Given the description of an element on the screen output the (x, y) to click on. 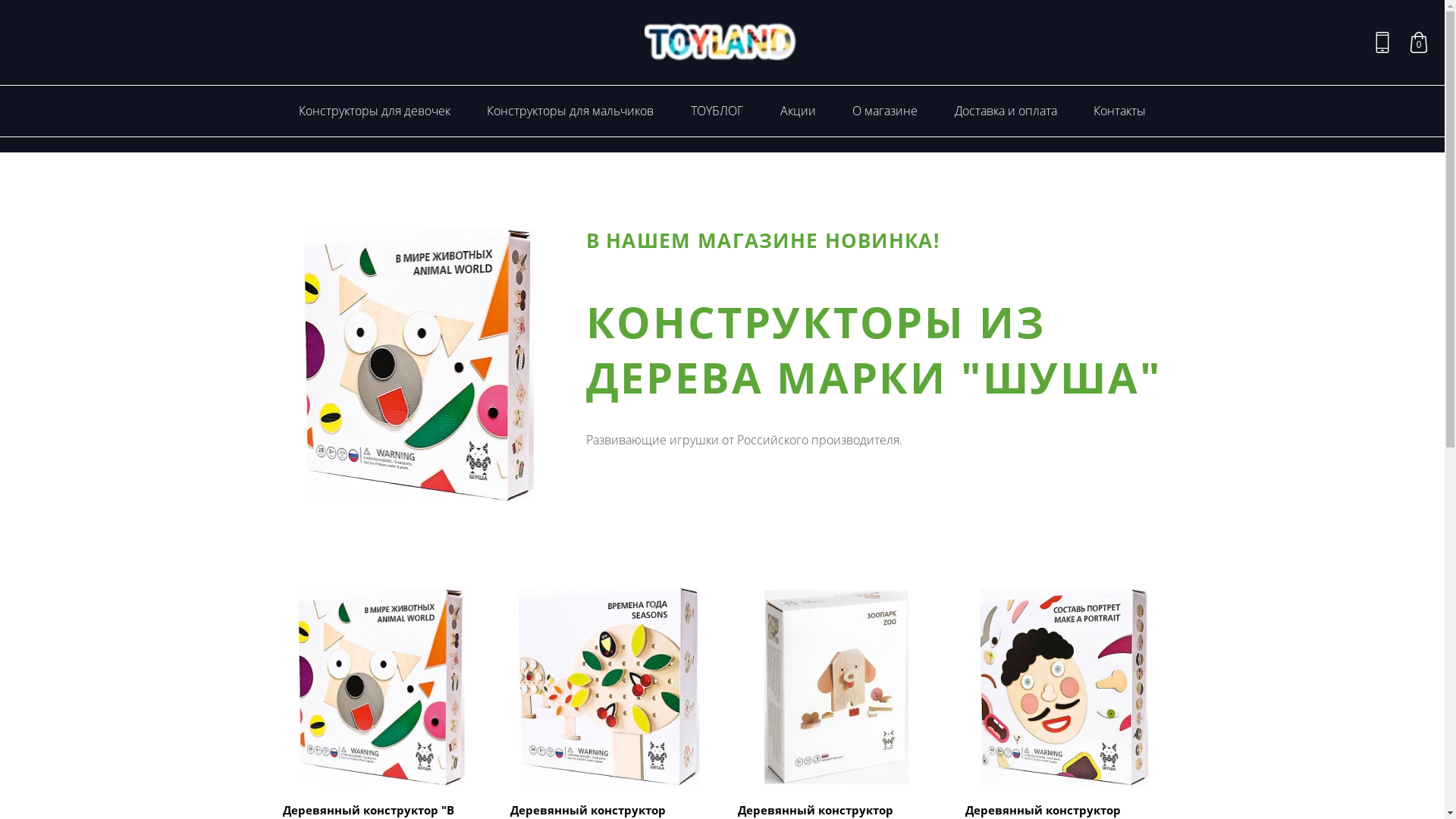
0 Element type: text (1418, 42)
